Given the description of an element on the screen output the (x, y) to click on. 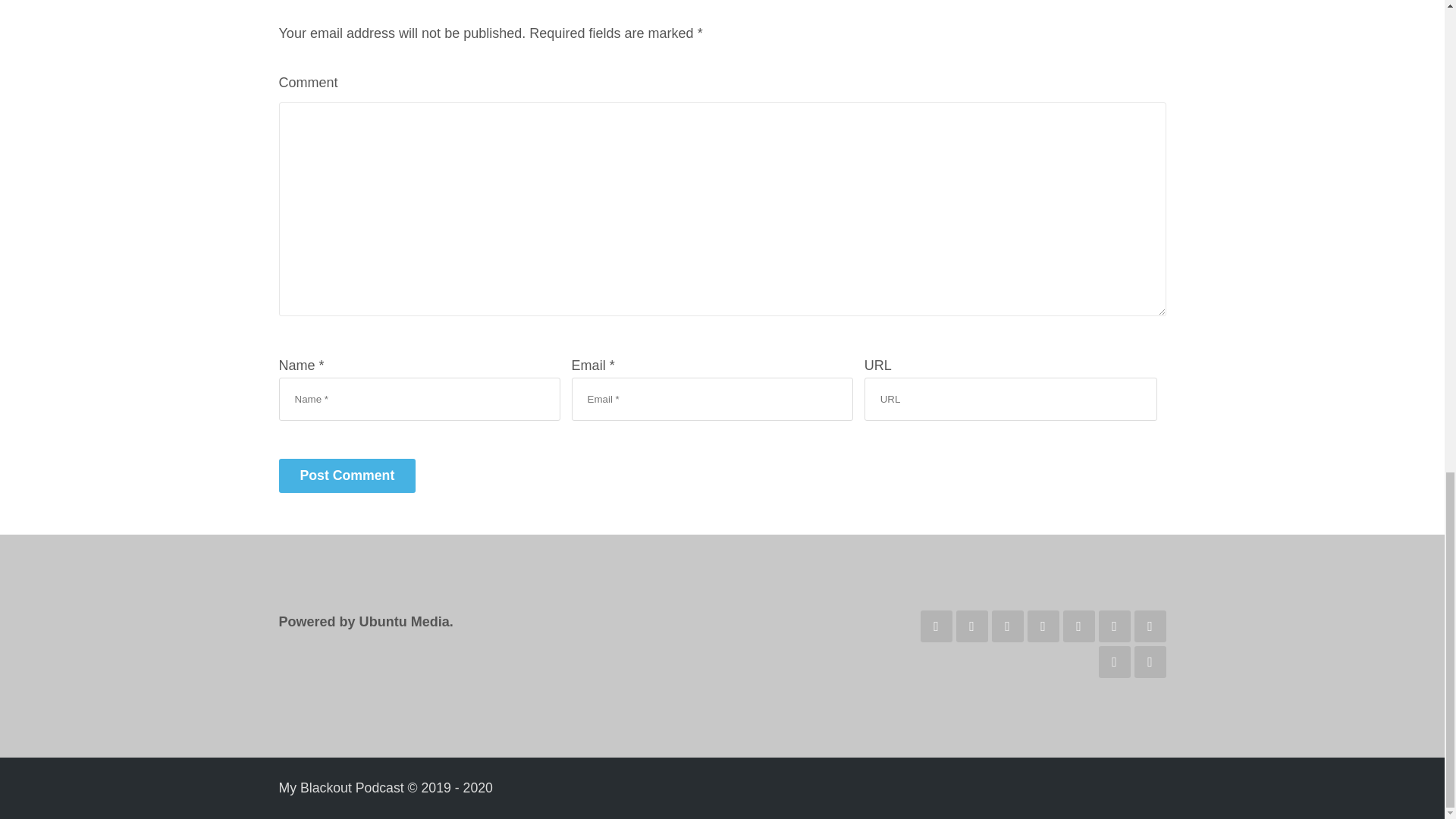
Post Comment (347, 475)
Post Comment (347, 475)
Powered by Ubuntu Media. (365, 621)
